Given the description of an element on the screen output the (x, y) to click on. 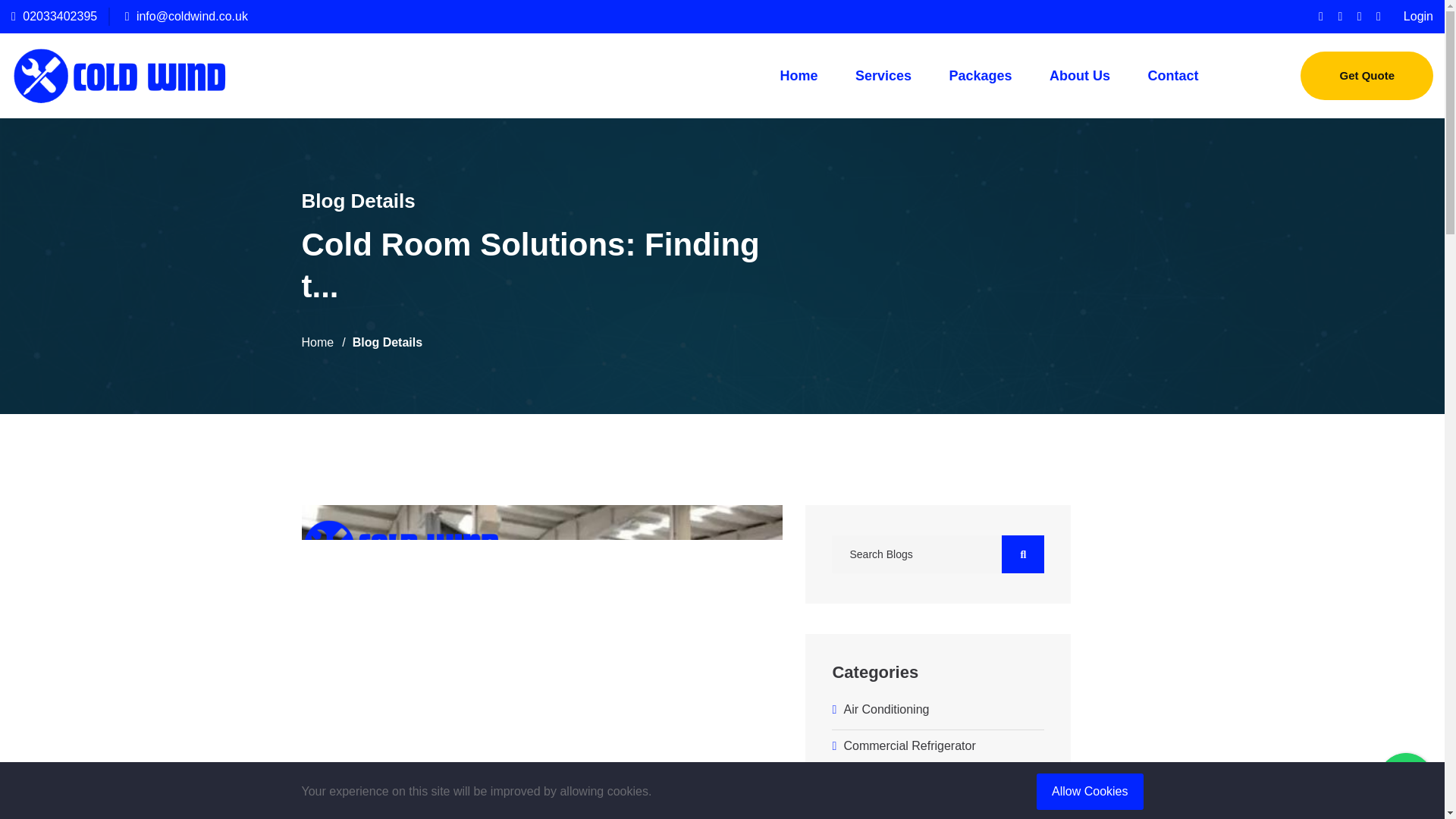
About Us (1079, 76)
Repair and Maintenance (937, 782)
Get Quote (1366, 75)
Commercial Refrigerator (937, 746)
Services (883, 76)
Login (1417, 16)
Contact (1172, 76)
Air Conditioning (937, 710)
Home (317, 342)
Packages (980, 76)
Allow Cookies (1089, 791)
